Given the description of an element on the screen output the (x, y) to click on. 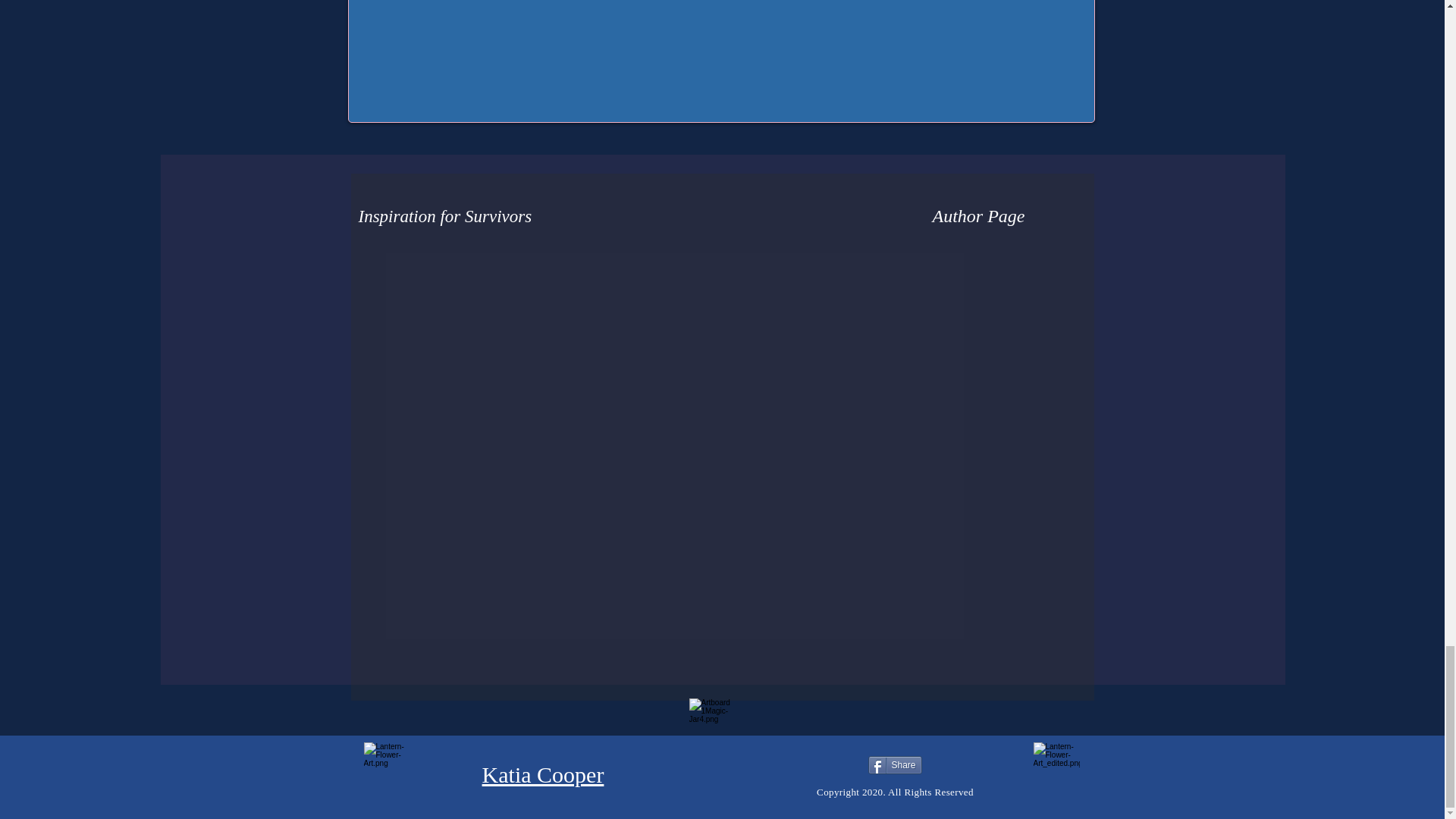
Share (894, 764)
